Given the description of an element on the screen output the (x, y) to click on. 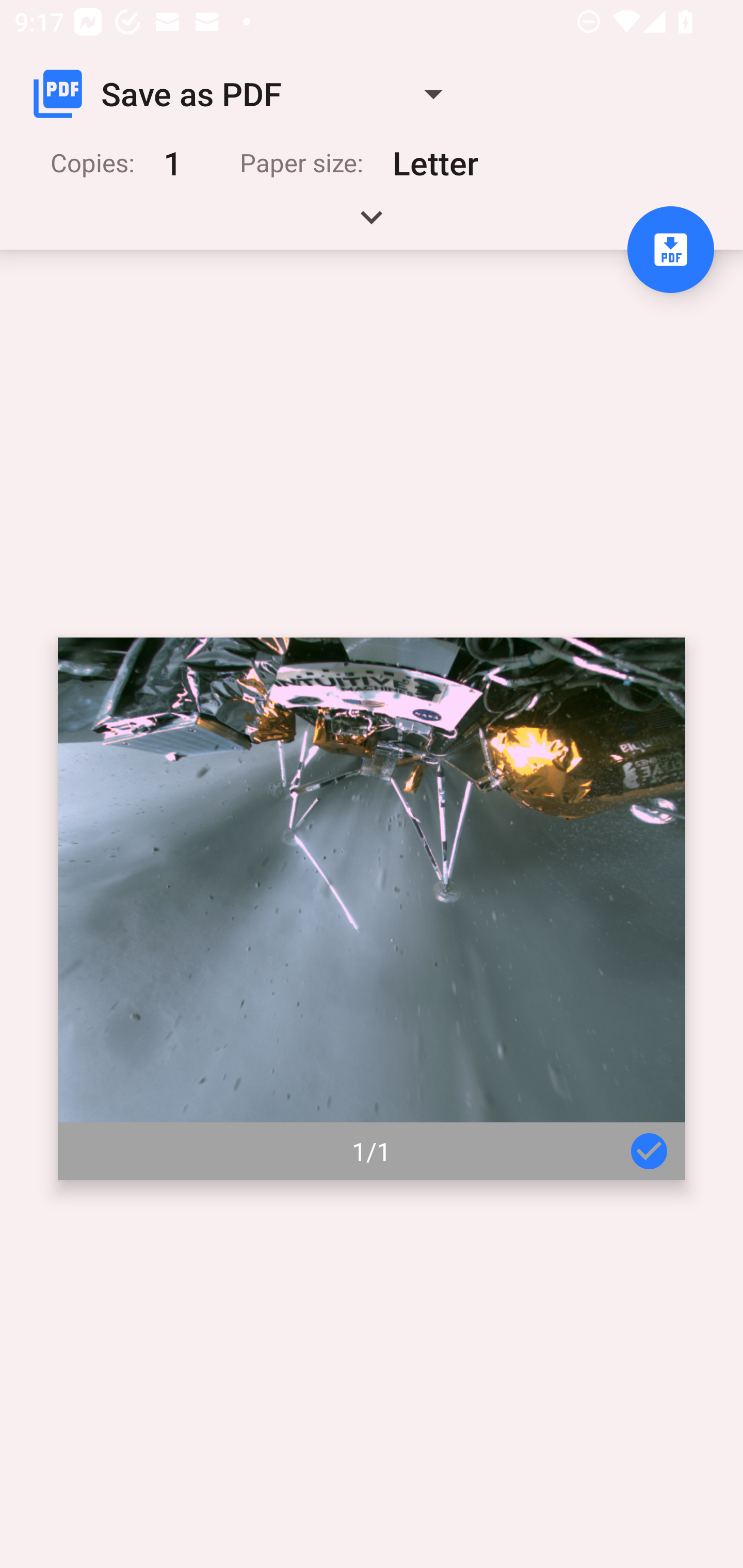
Save as PDF (245, 93)
Expand handle (371, 224)
Save to PDF (670, 249)
Page 1 of 1 1/1 (371, 909)
